Given the description of an element on the screen output the (x, y) to click on. 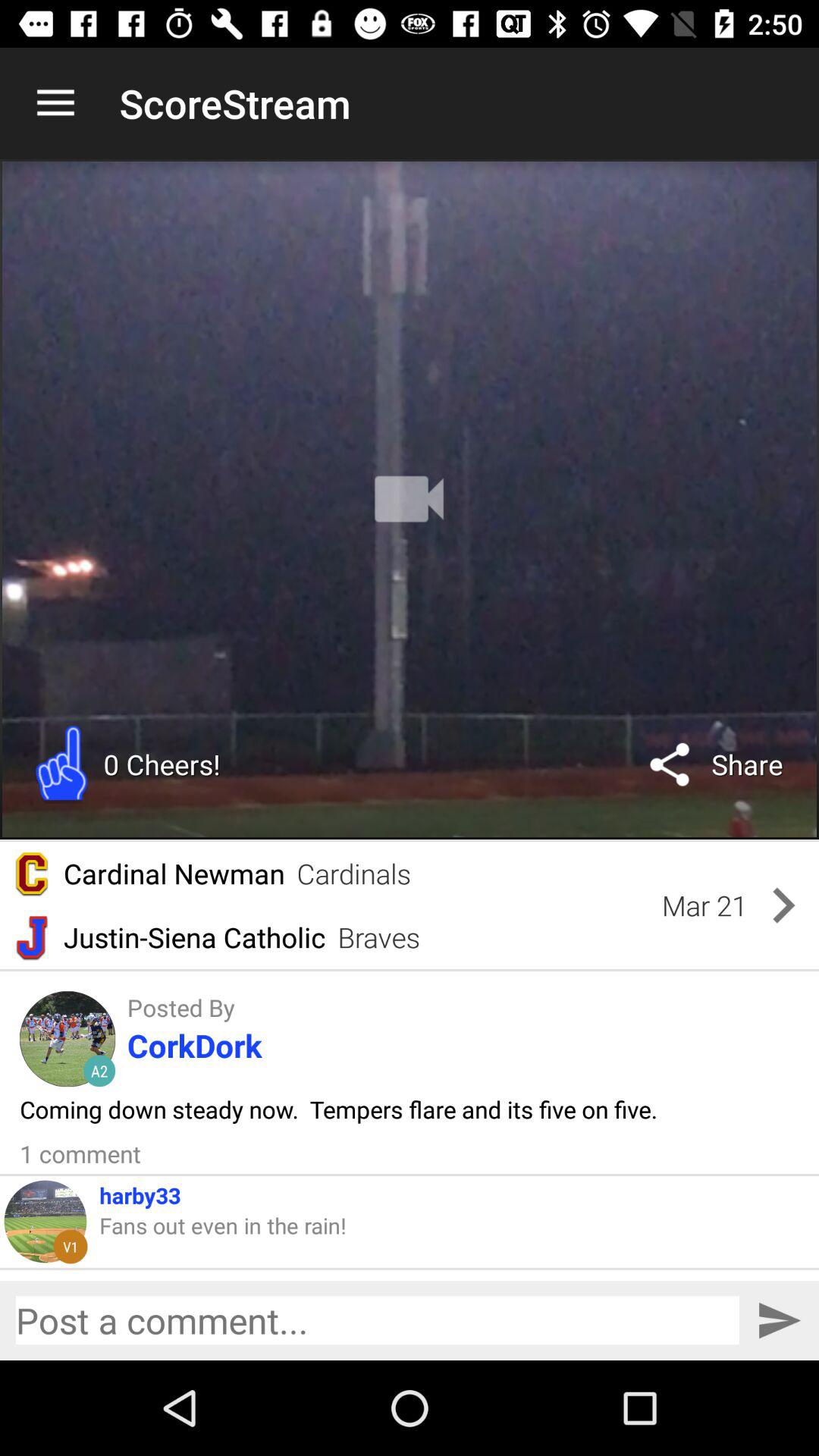
open the braves icon (378, 937)
